Given the description of an element on the screen output the (x, y) to click on. 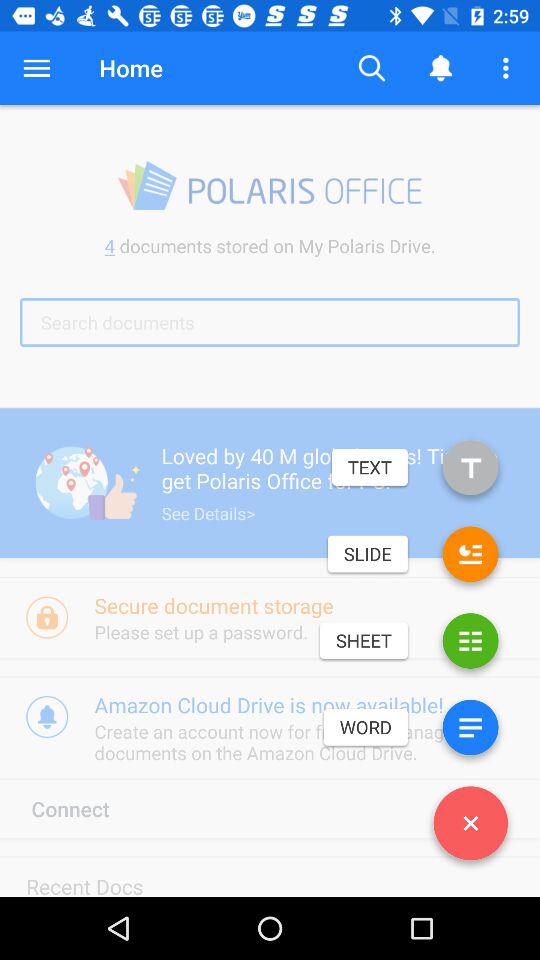
press the icon above the recent docs (89, 808)
